Given the description of an element on the screen output the (x, y) to click on. 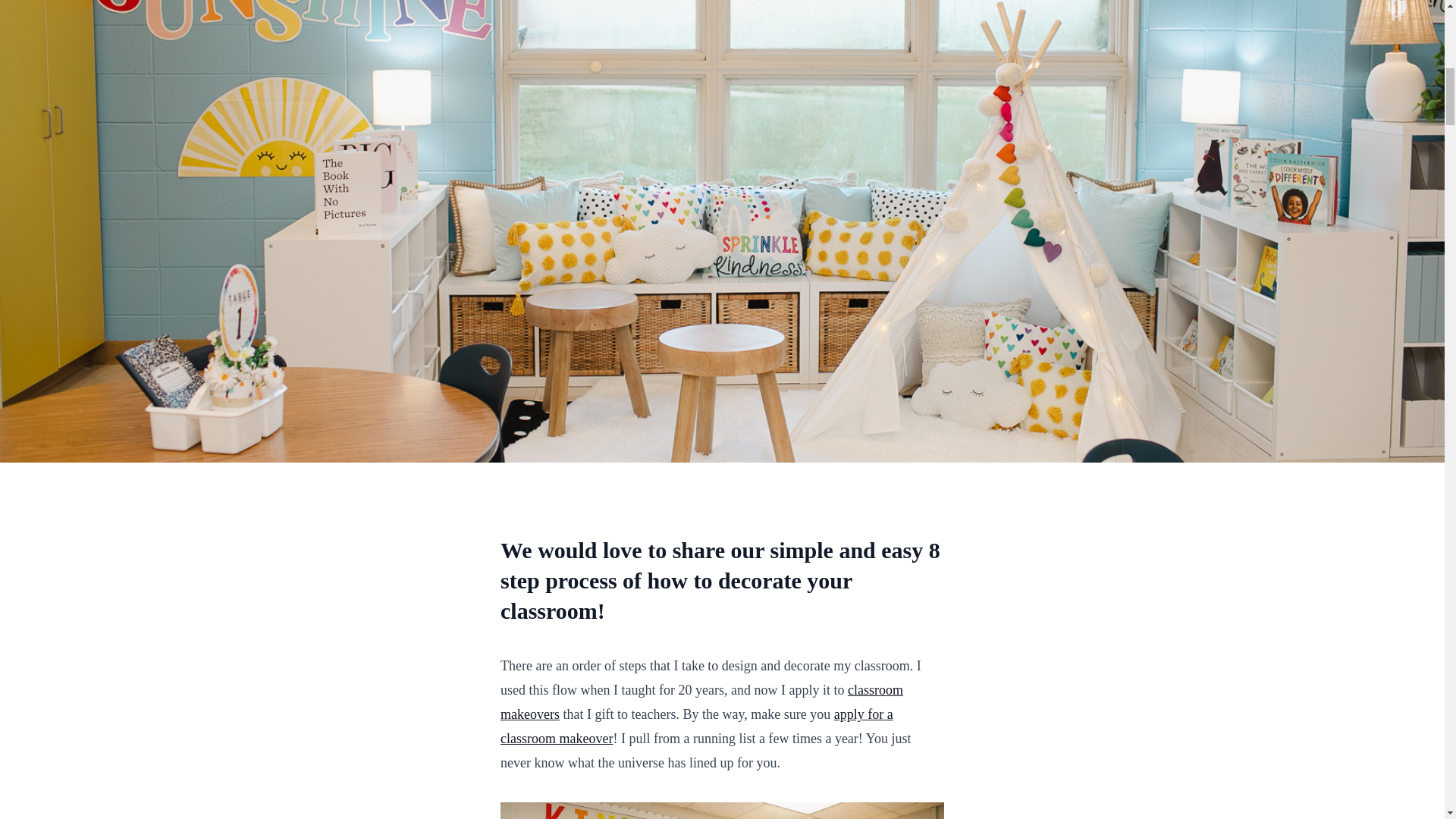
apply for a classroom makeover (696, 726)
classroom makeovers (701, 701)
